Given the description of an element on the screen output the (x, y) to click on. 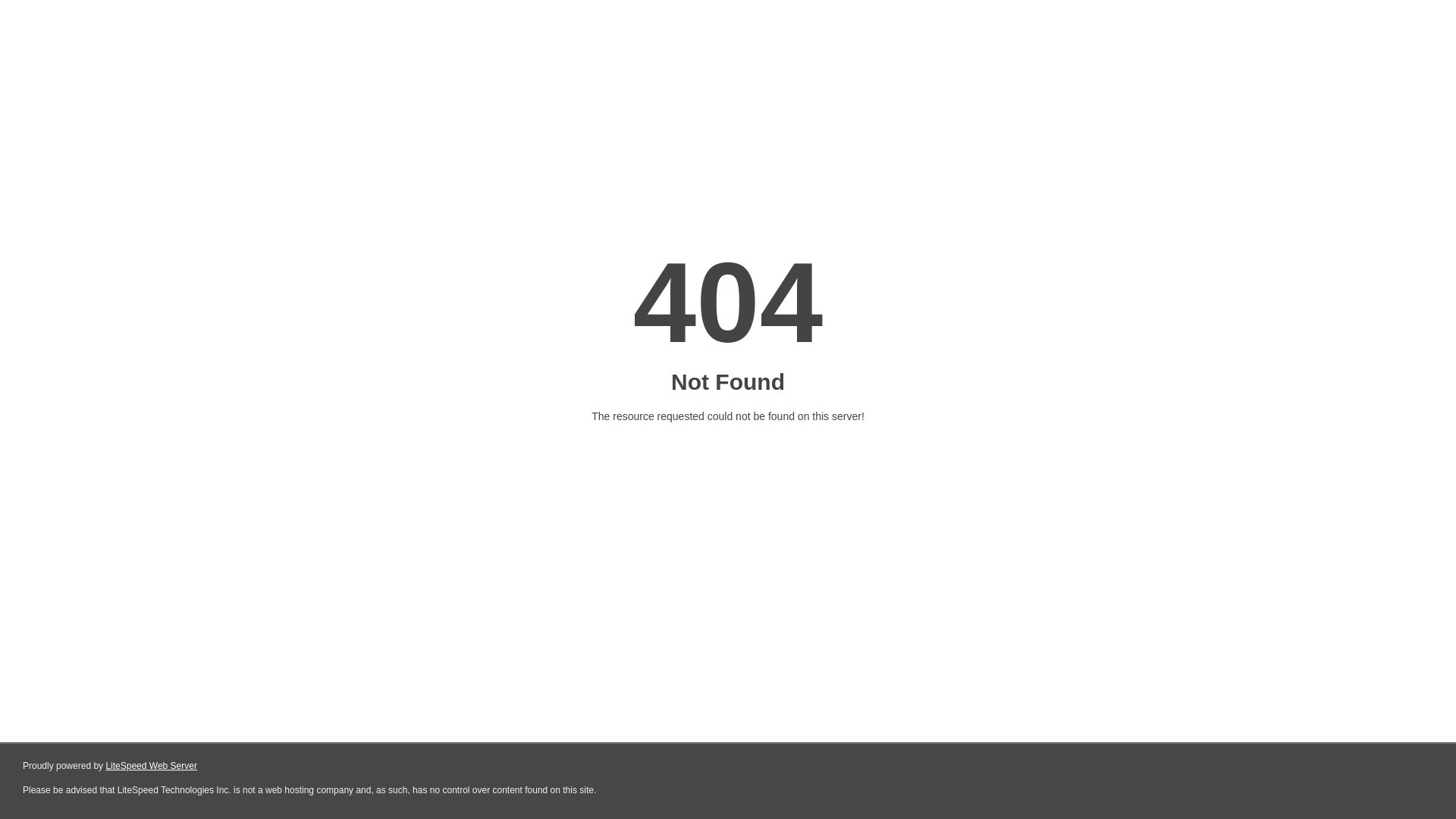
LiteSpeed Web Server (150, 765)
